Given the description of an element on the screen output the (x, y) to click on. 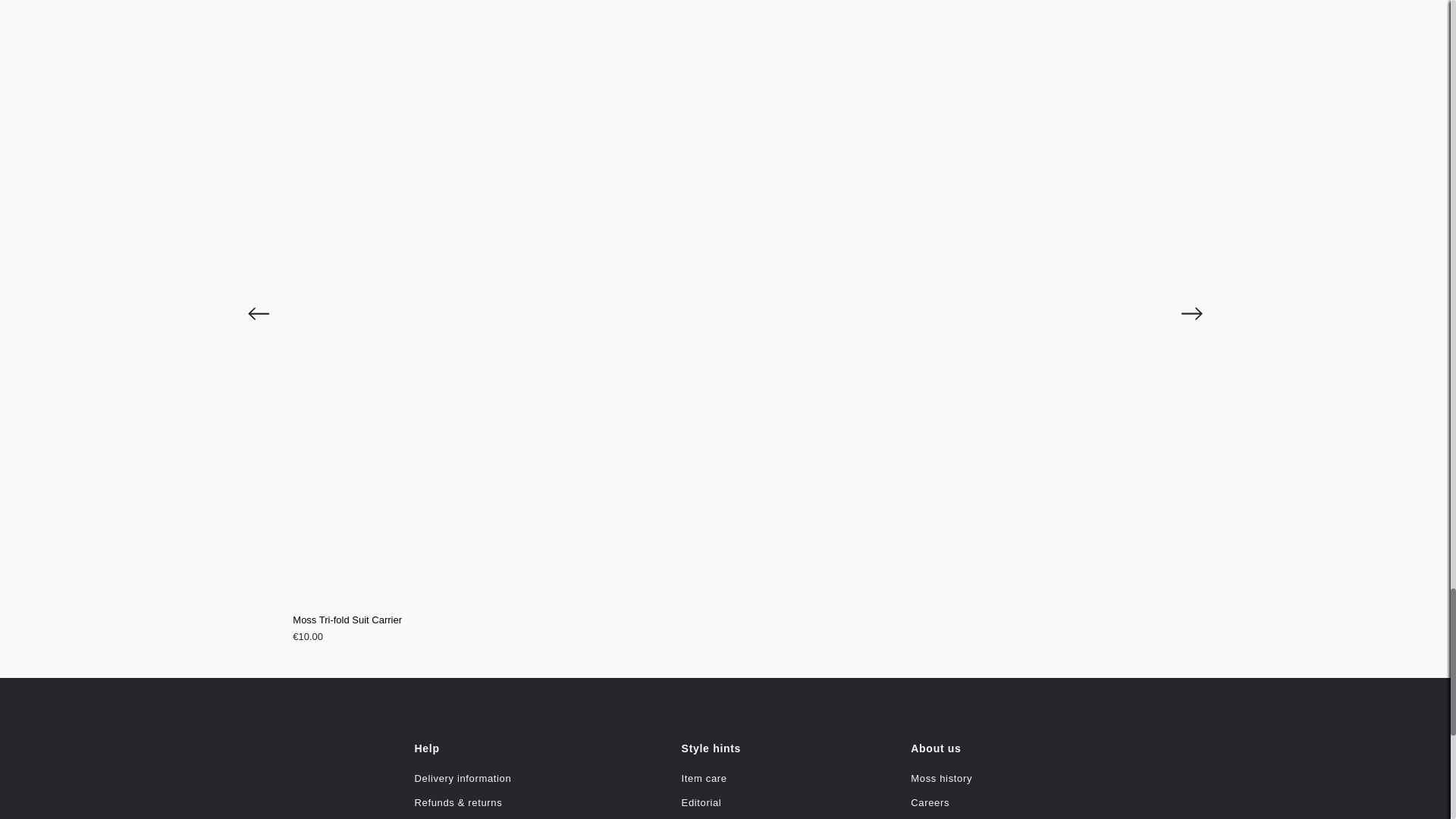
Moss Tri-fold Suit Carrier  (724, 620)
Moss Tri-fold Suit Carrier  966885317 (724, 630)
